Given the description of an element on the screen output the (x, y) to click on. 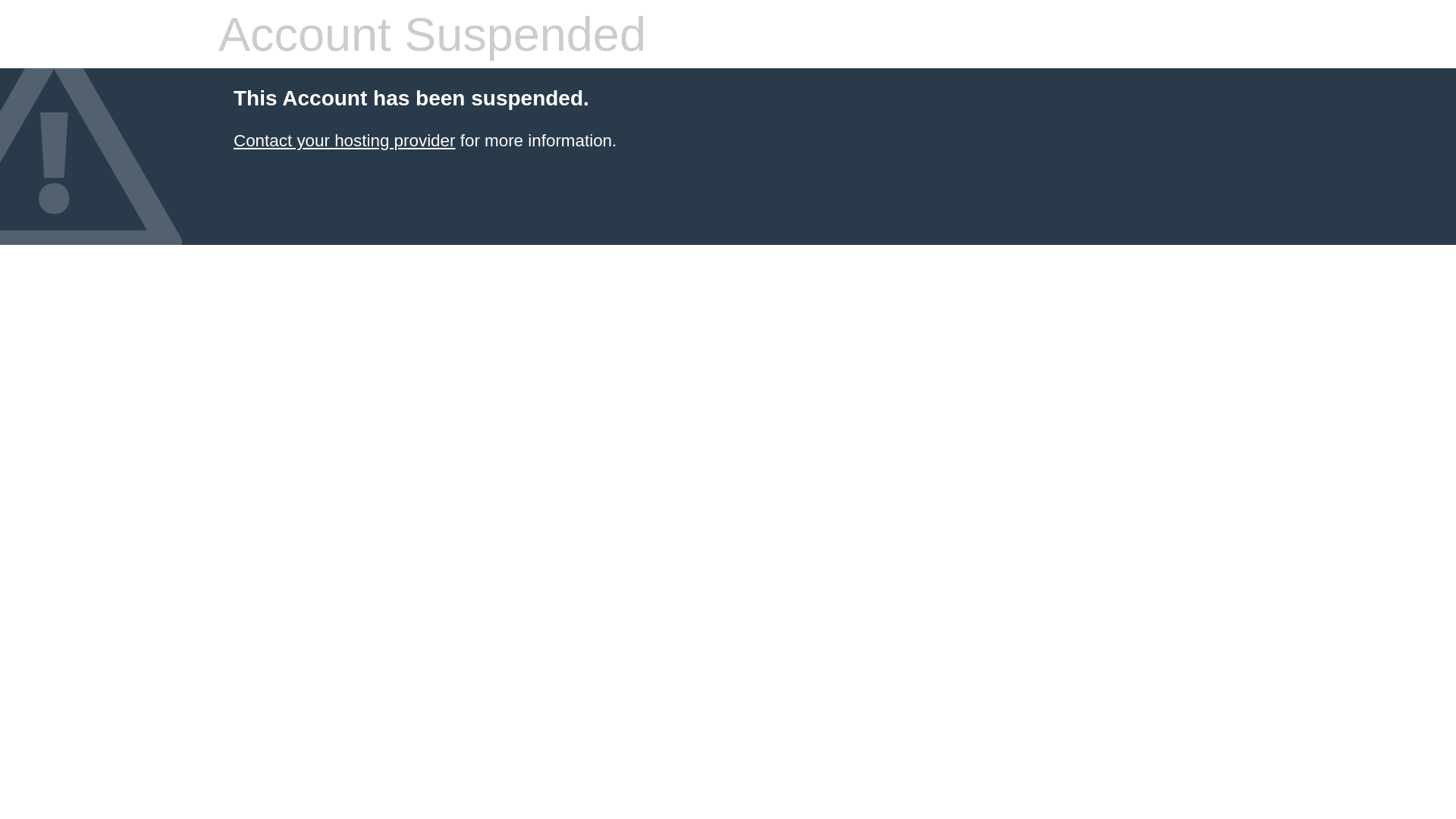
Contact your hosting provider Element type: text (344, 140)
